Given the description of an element on the screen output the (x, y) to click on. 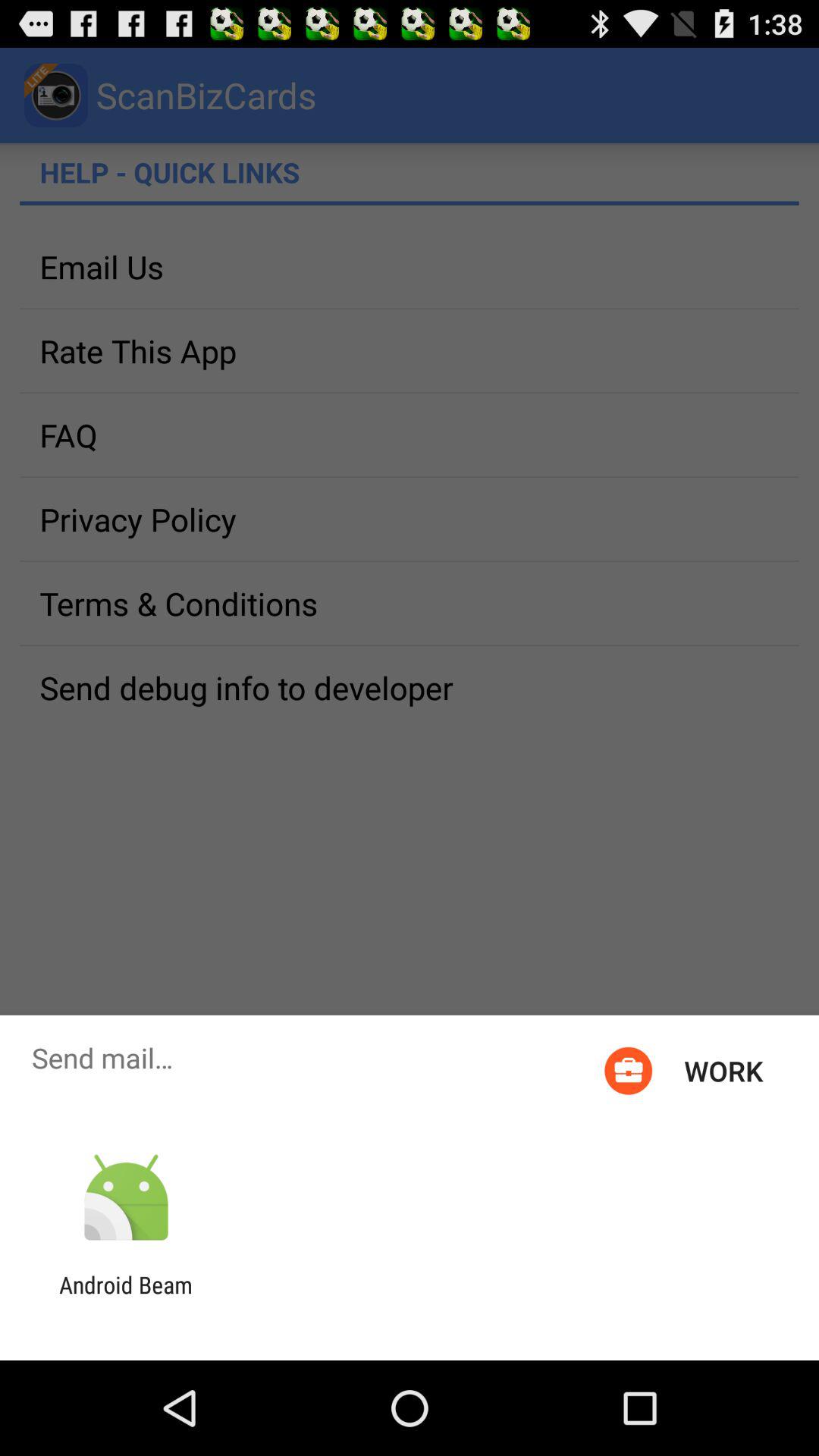
flip until the android beam app (125, 1298)
